Given the description of an element on the screen output the (x, y) to click on. 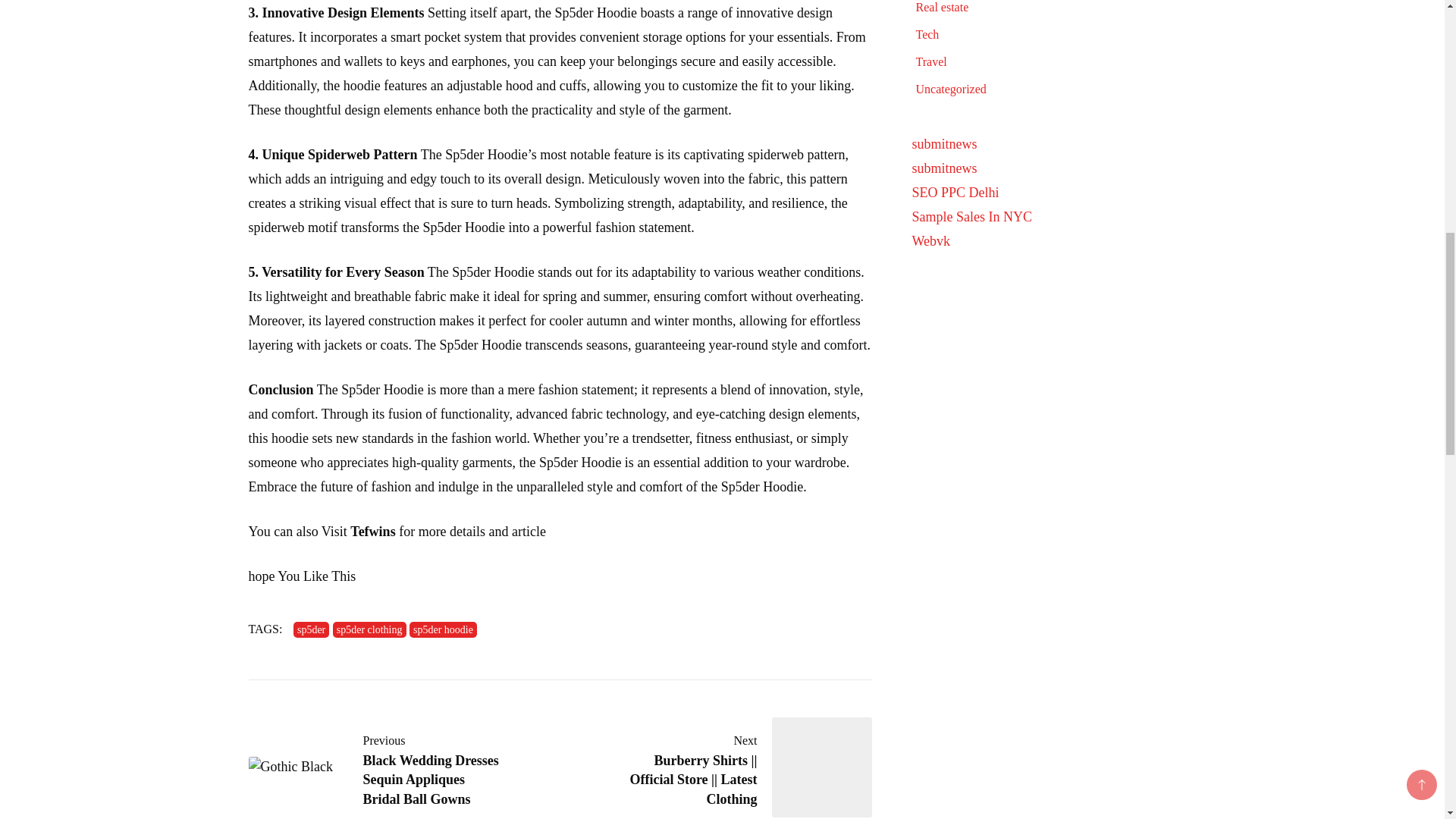
sp5der hoodie (443, 629)
Tefwins (372, 531)
sp5der (311, 629)
sp5der clothing (369, 629)
